Given the description of an element on the screen output the (x, y) to click on. 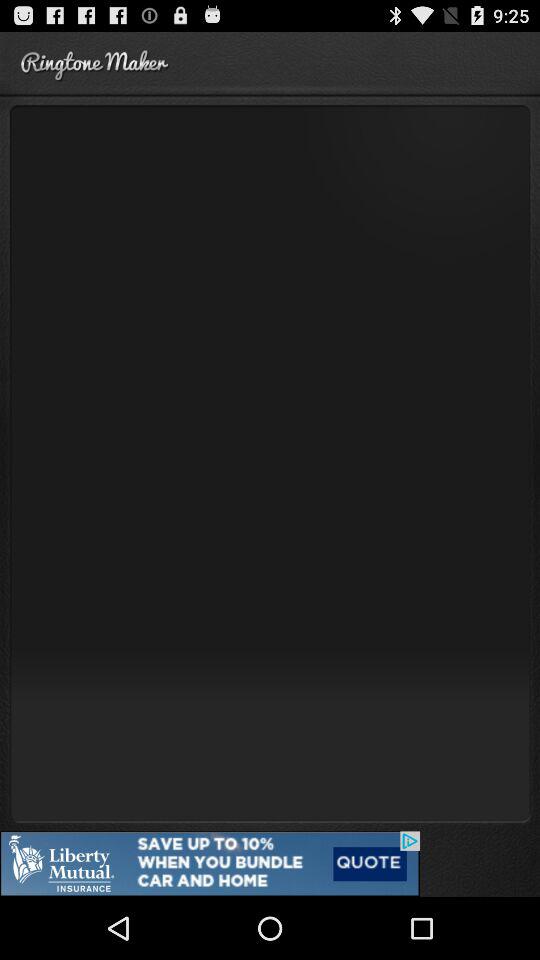
text the document written (269, 462)
